Given the description of an element on the screen output the (x, y) to click on. 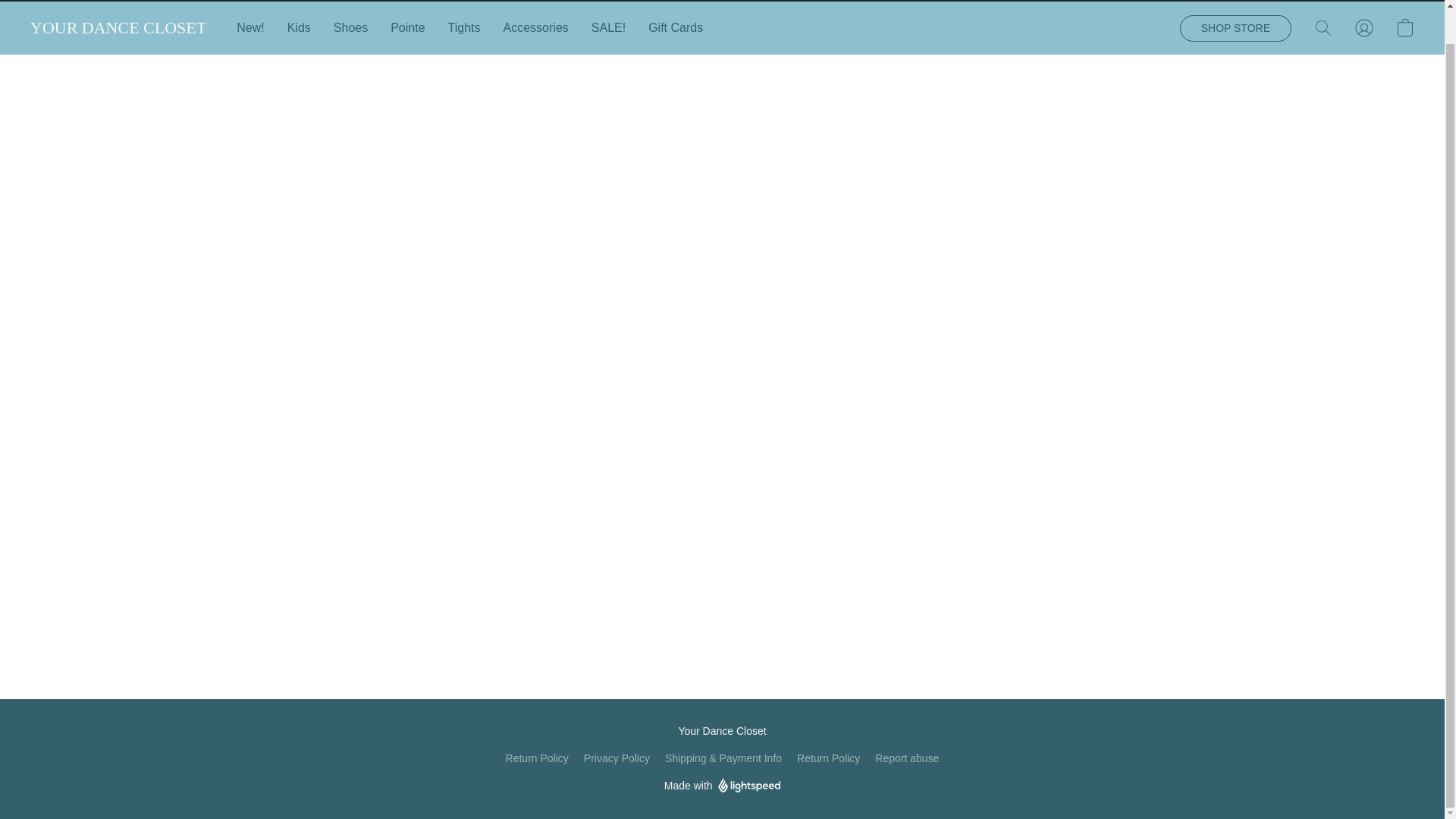
YOUR DANCE CLOSET (118, 27)
Made with (721, 785)
New! (255, 27)
Report abuse (907, 758)
Privacy Policy (616, 758)
SHOP STORE (1235, 28)
Return Policy (537, 758)
Gift Cards (670, 27)
Shoes (349, 27)
Search the website (1323, 28)
